Given the description of an element on the screen output the (x, y) to click on. 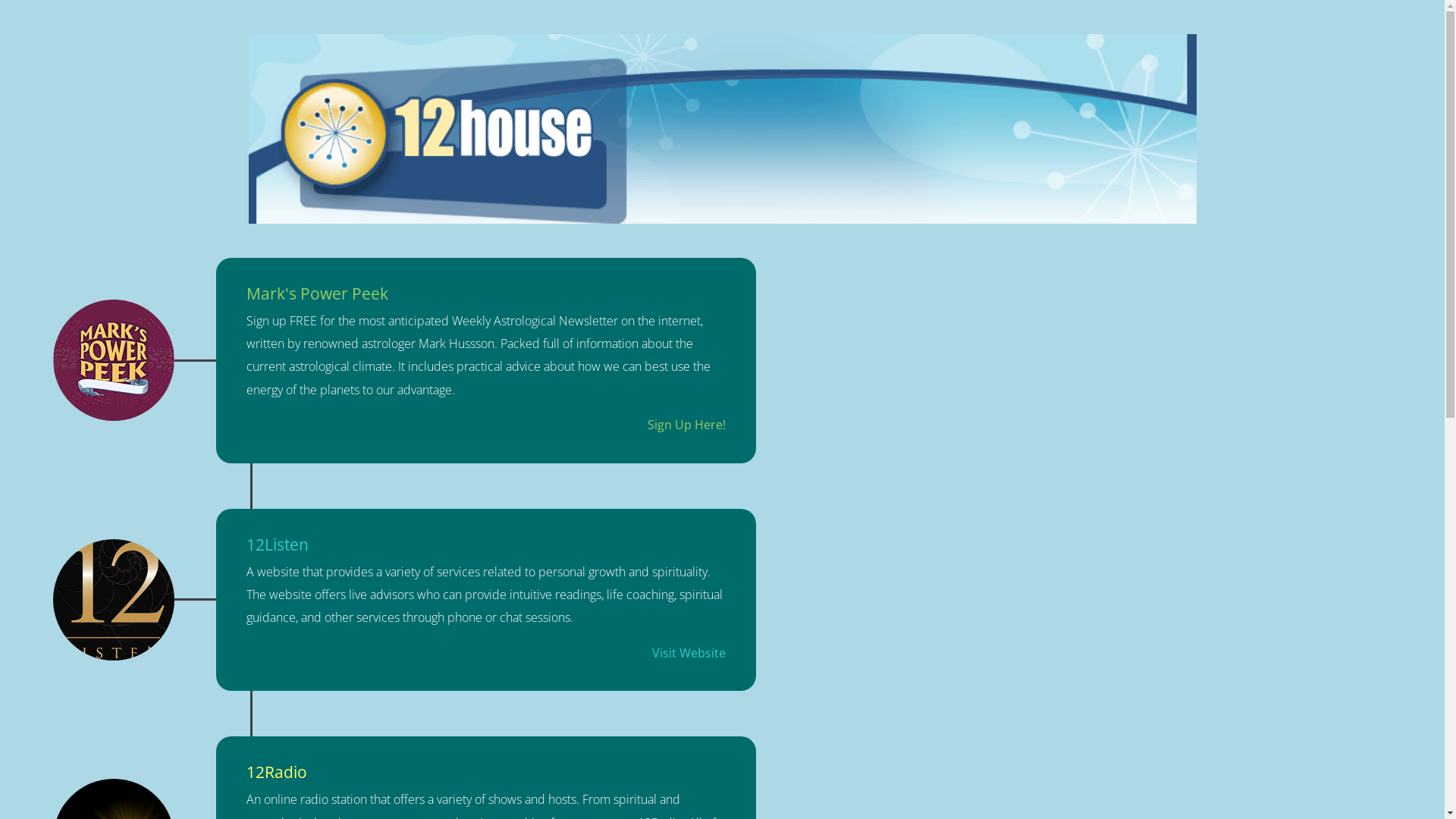
Sign Up Here! Element type: text (686, 424)
Visit Website Element type: text (688, 652)
